Given the description of an element on the screen output the (x, y) to click on. 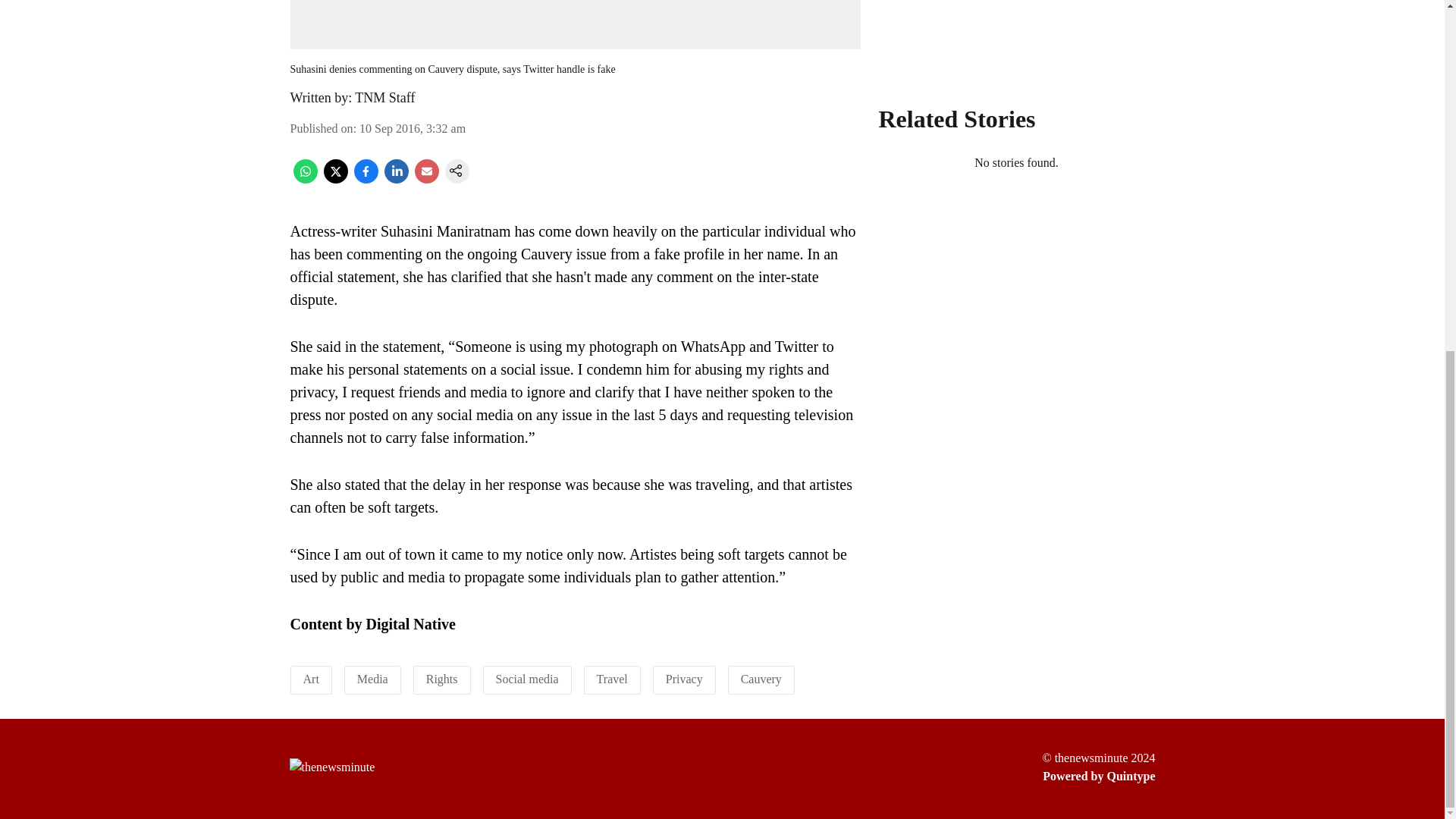
Media (372, 678)
Privacy (684, 678)
Cauvery (761, 678)
TNM Staff (384, 97)
Rights (442, 678)
Travel (611, 678)
Art (310, 678)
Social media (527, 678)
Powered by Quintype (1098, 776)
2016-09-10 03:32 (412, 128)
